Given the description of an element on the screen output the (x, y) to click on. 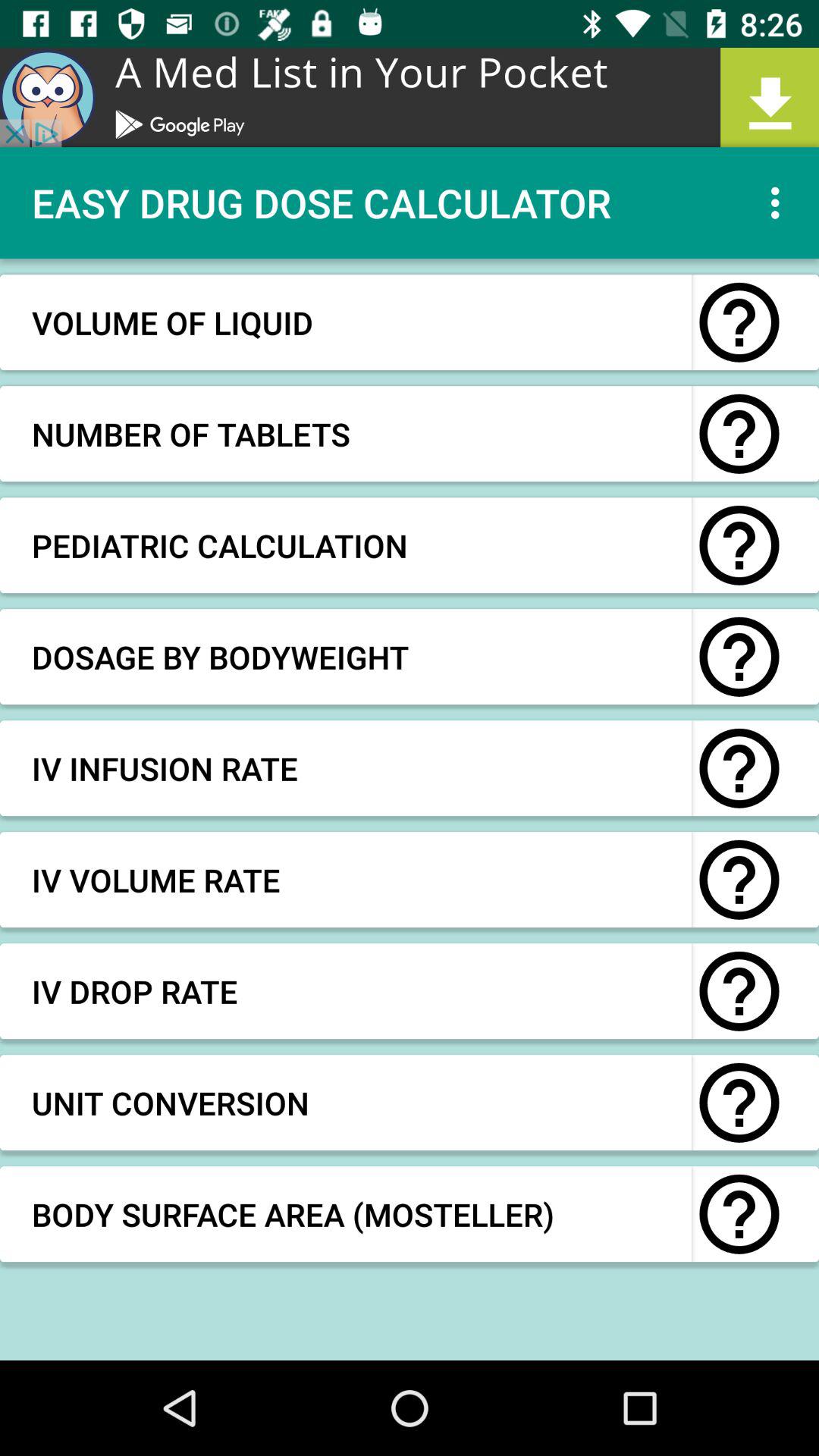
question (739, 991)
